Given the description of an element on the screen output the (x, y) to click on. 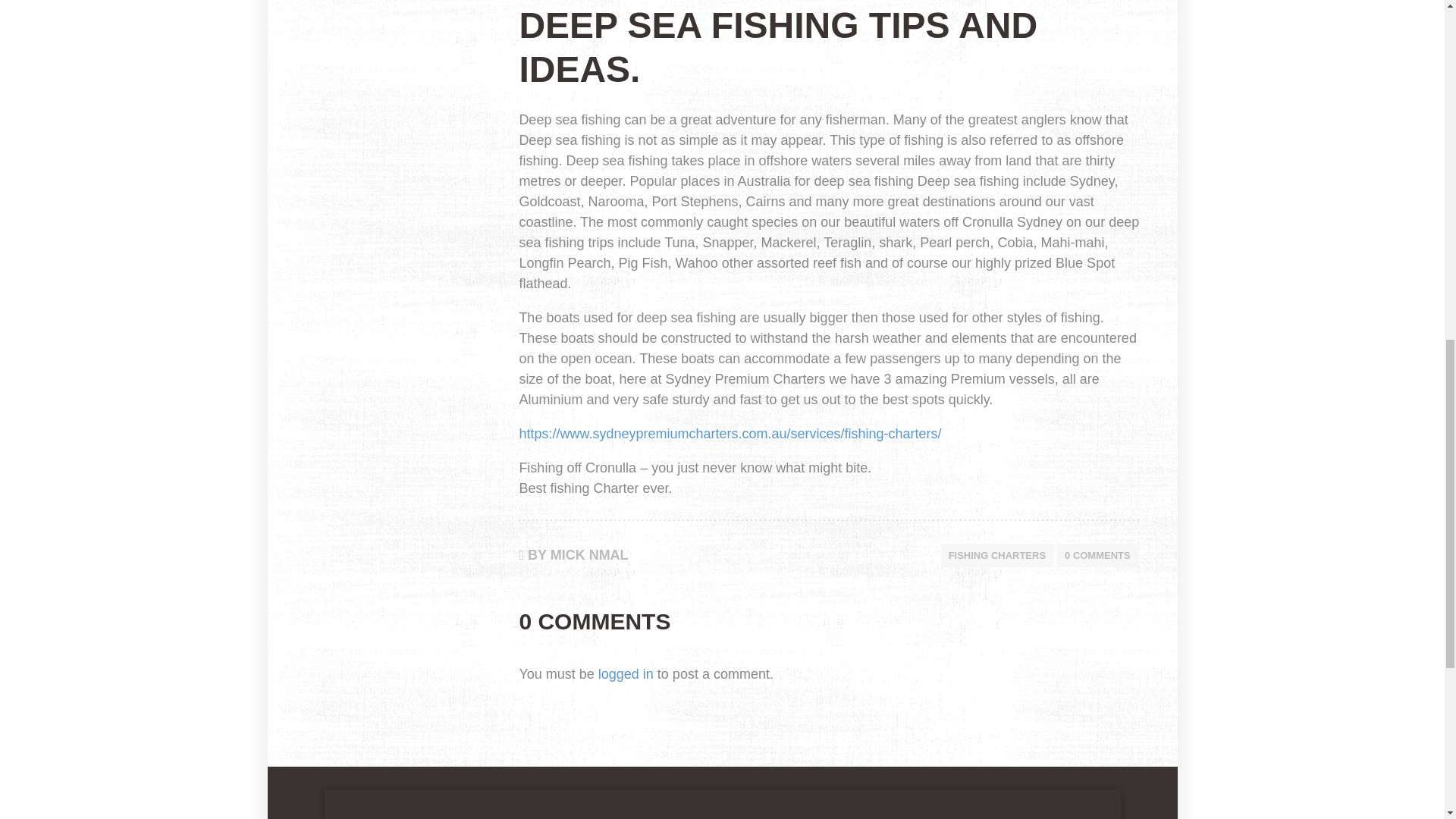
FISHING CHARTERS (996, 555)
logged in (625, 673)
0 COMMENTS (1097, 555)
